Given the description of an element on the screen output the (x, y) to click on. 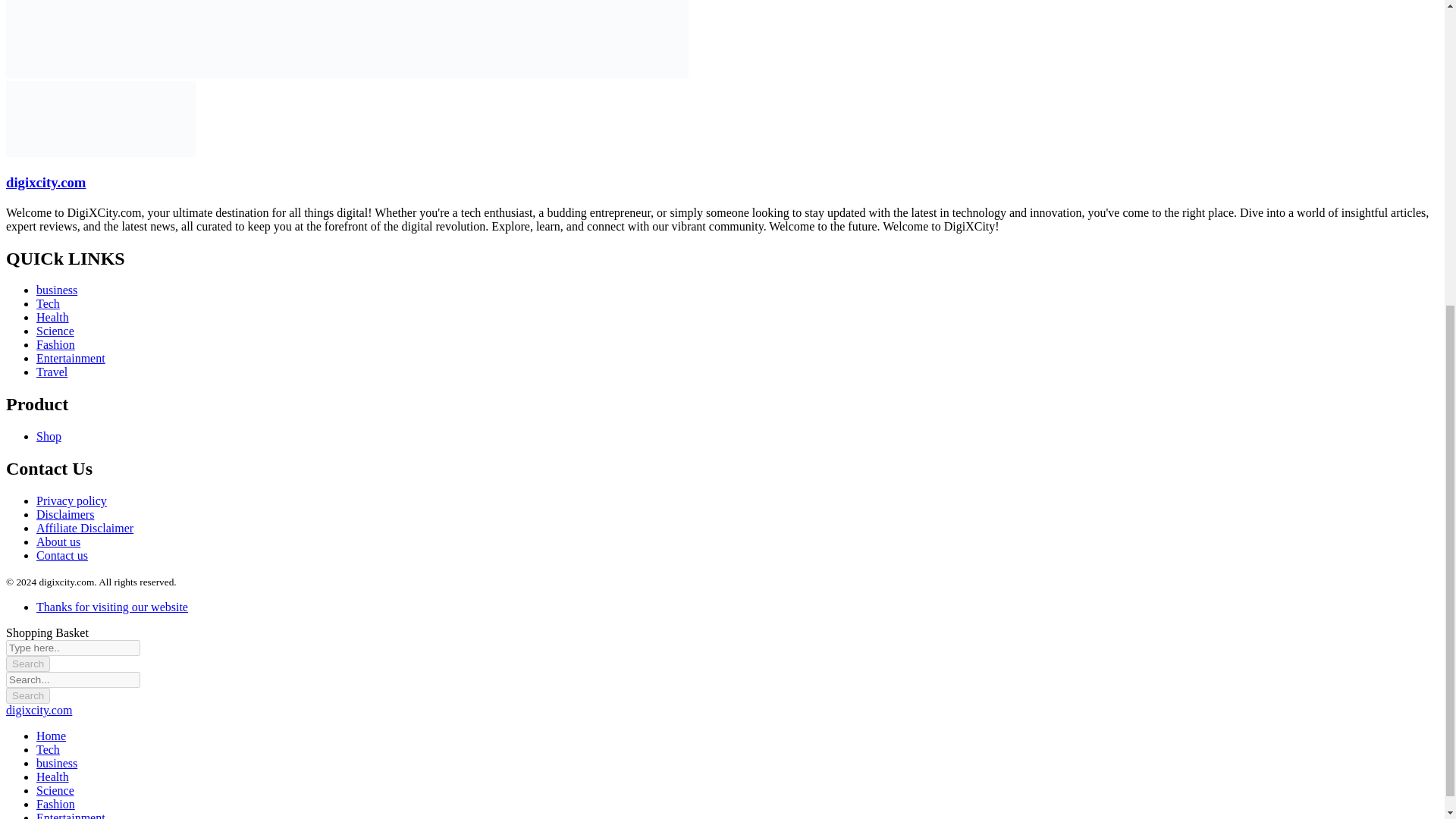
About us (58, 541)
Science (55, 330)
Health (52, 317)
Affiliate Disclaimer (84, 527)
business (56, 762)
Entertainment (70, 358)
Search (27, 695)
Health (52, 776)
Disclaimers (65, 513)
digixcity.com (100, 152)
